Given the description of an element on the screen output the (x, y) to click on. 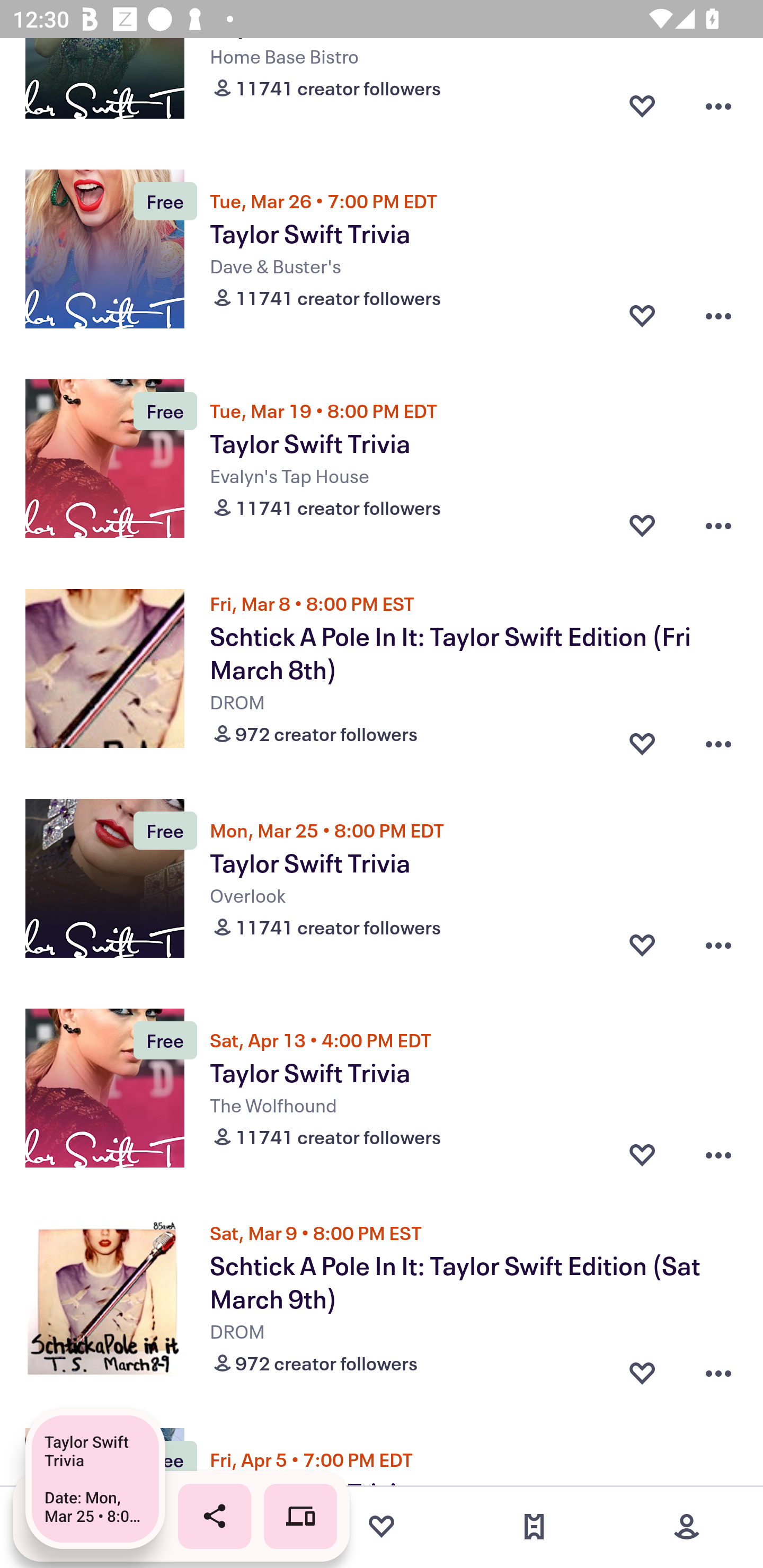
Favorite button (642, 106)
Overflow menu button (718, 106)
Favorite button (642, 315)
Overflow menu button (718, 315)
Favorite button (642, 524)
Overflow menu button (718, 524)
Favorite button (642, 739)
Overflow menu button (718, 739)
Favorite button (642, 945)
Overflow menu button (718, 945)
Favorite button (642, 1154)
Overflow menu button (718, 1154)
Favorite button (642, 1369)
Overflow menu button (718, 1369)
Favorites (381, 1526)
Tickets (533, 1526)
More (686, 1526)
